Given the description of an element on the screen output the (x, y) to click on. 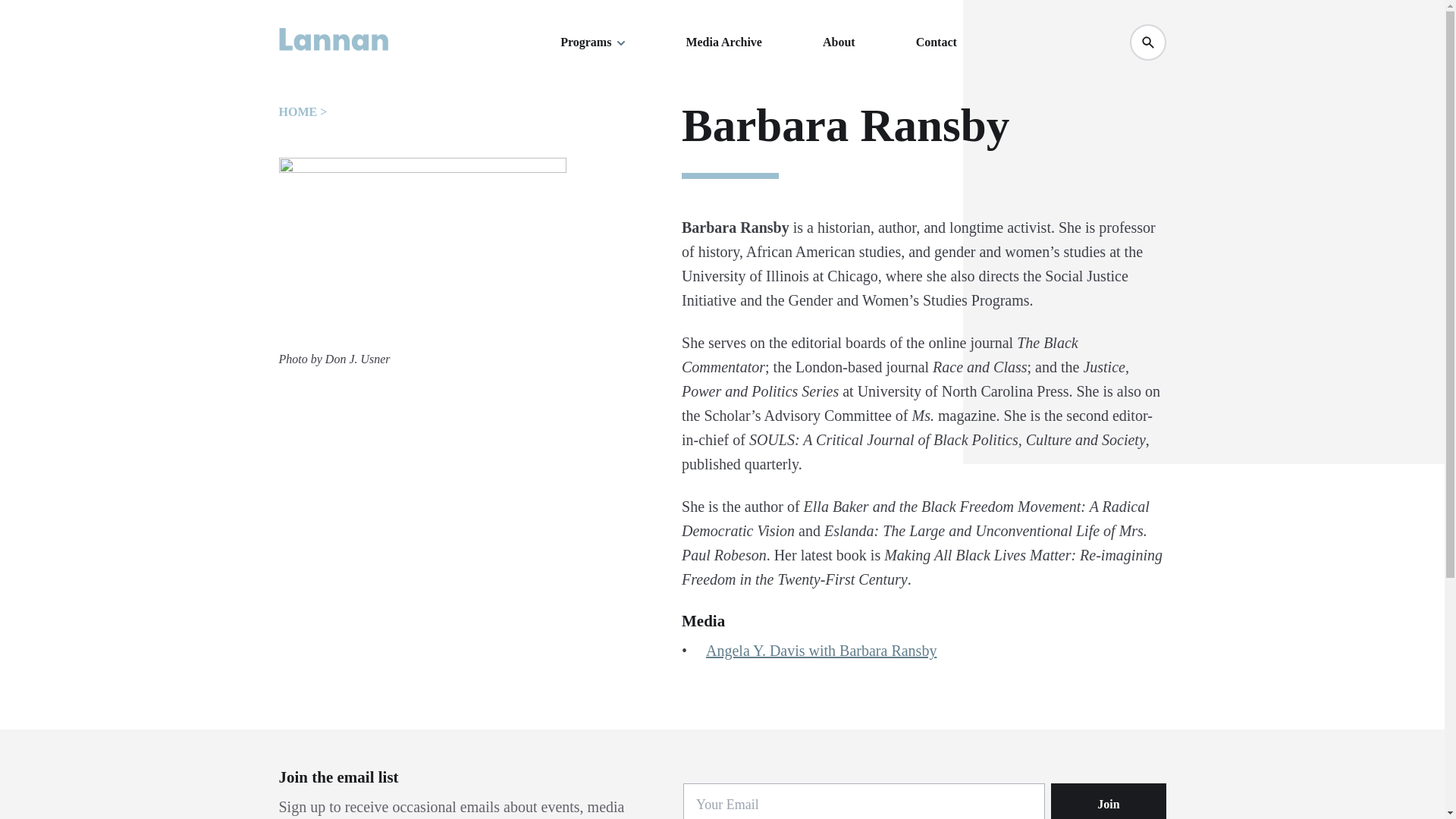
Angela Y. Davis with Barbara Ransby (821, 650)
Contact (935, 42)
Programs (592, 42)
Media Archive (723, 42)
Join (1108, 800)
HOME (298, 111)
Join (1108, 800)
About (839, 42)
